Given the description of an element on the screen output the (x, y) to click on. 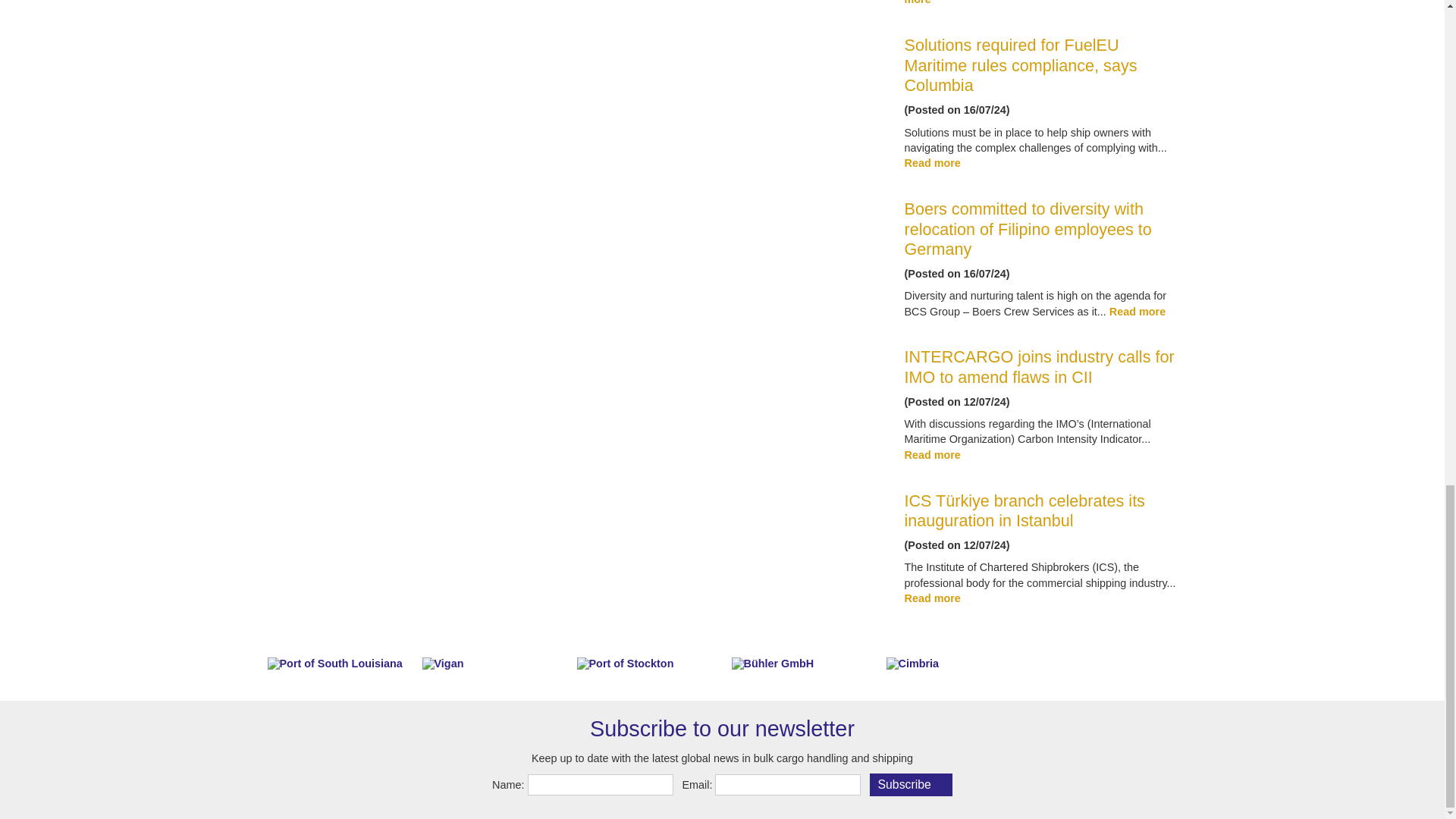
Subscribe (910, 784)
